Given the description of an element on the screen output the (x, y) to click on. 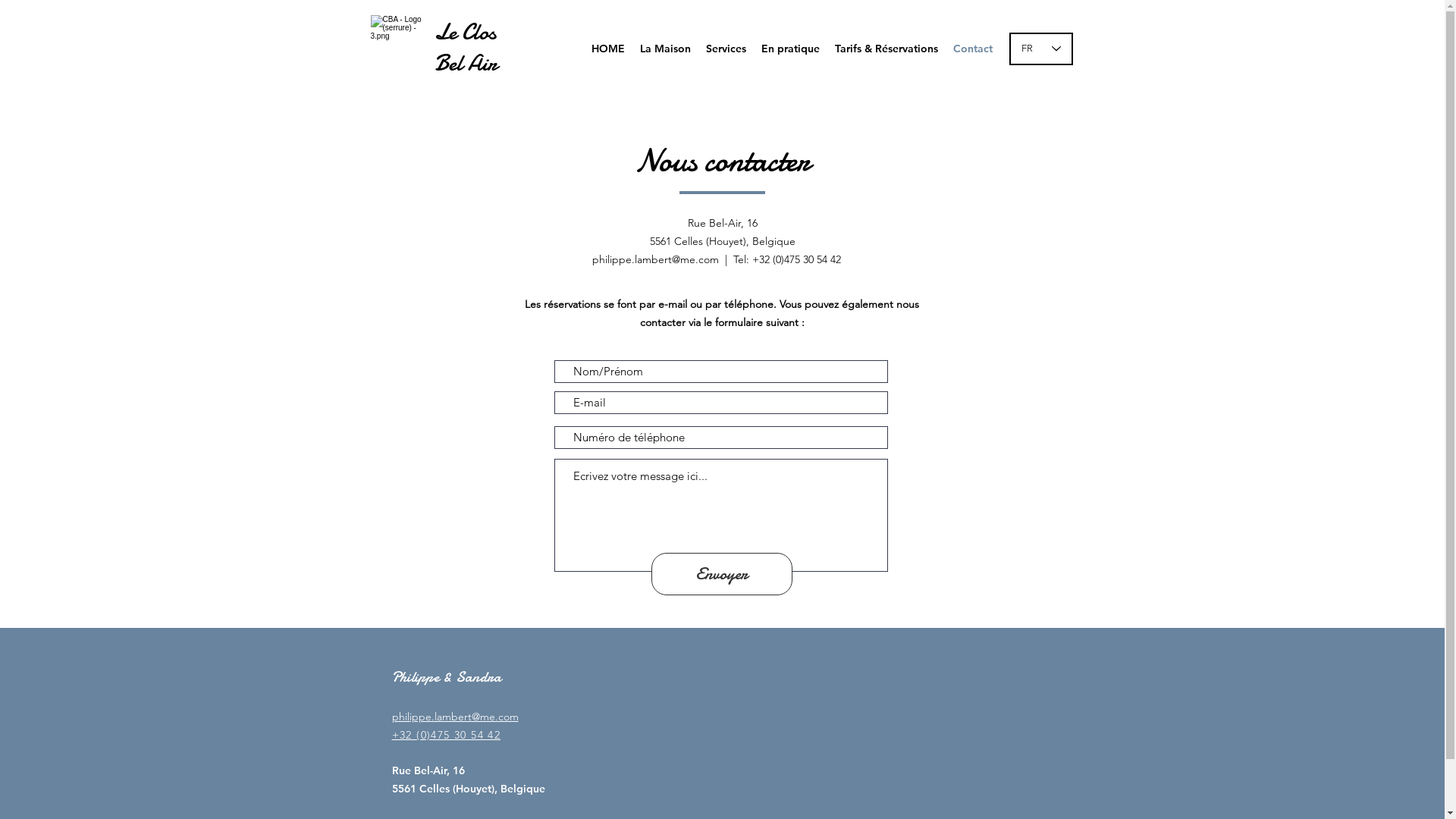
Le Clos Element type: text (464, 31)
HOME Element type: text (607, 48)
Contact Element type: text (971, 48)
Envoyer Element type: text (720, 573)
philippe.lambert@me.com Element type: text (454, 716)
En pratique Element type: text (790, 48)
La Maison Element type: text (665, 48)
philippe.lambert@me.com Element type: text (654, 259)
Services Element type: text (725, 48)
+32 (0)475 30 54 42 Element type: text (445, 734)
